Given the description of an element on the screen output the (x, y) to click on. 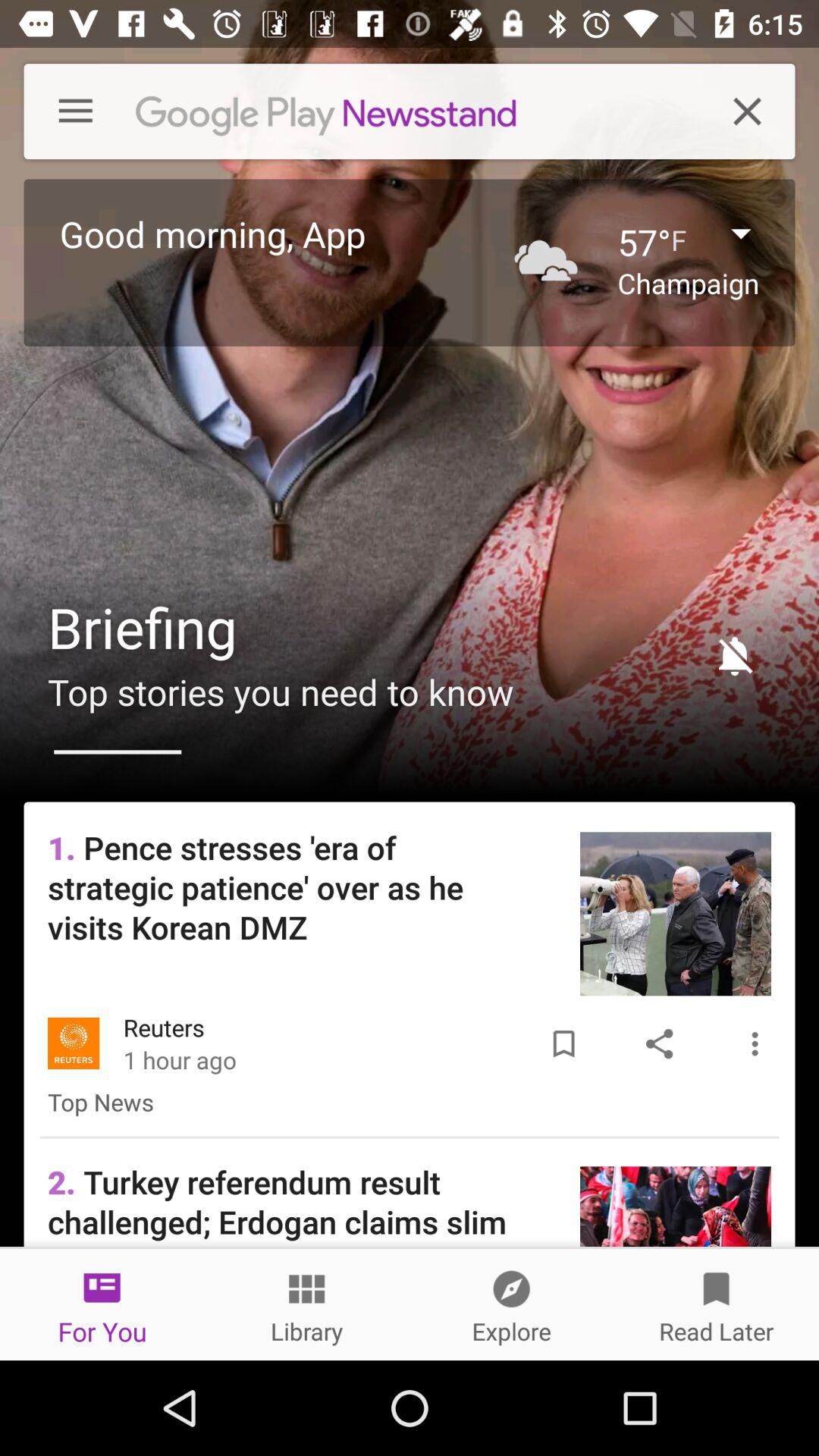
select icon below the champaign (729, 655)
